Given the description of an element on the screen output the (x, y) to click on. 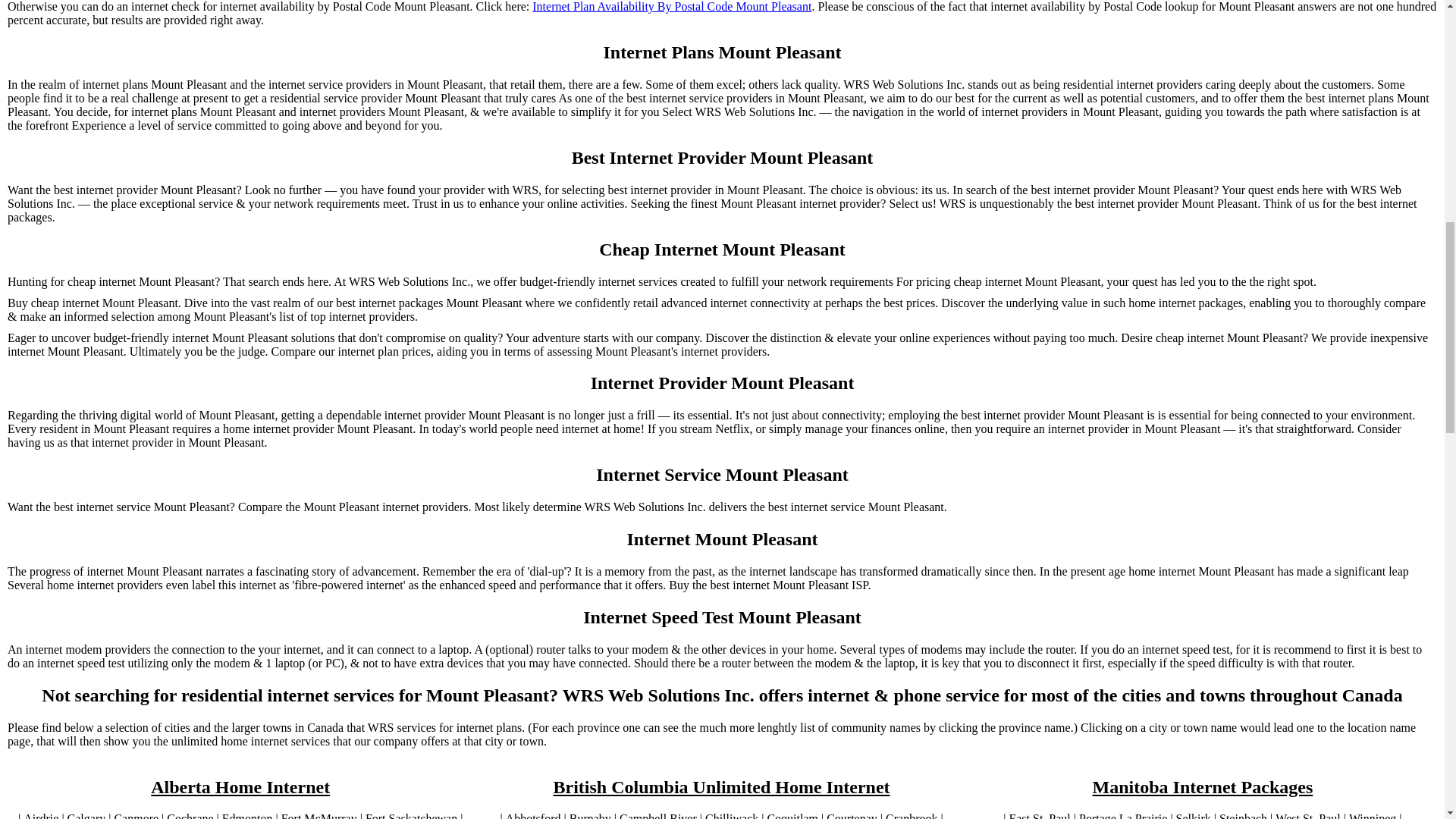
Fort McMurray (318, 815)
Alberta Home Internet (240, 787)
Edmonton (247, 815)
Internet Plan Availability By Postal Code Mount Pleasant (671, 6)
British Columbia Unlimited Home Internet (721, 787)
Campbell River (658, 815)
Calgary (86, 815)
Coquitlam (792, 815)
Airdrie (40, 815)
Cochrane (189, 815)
